Given the description of an element on the screen output the (x, y) to click on. 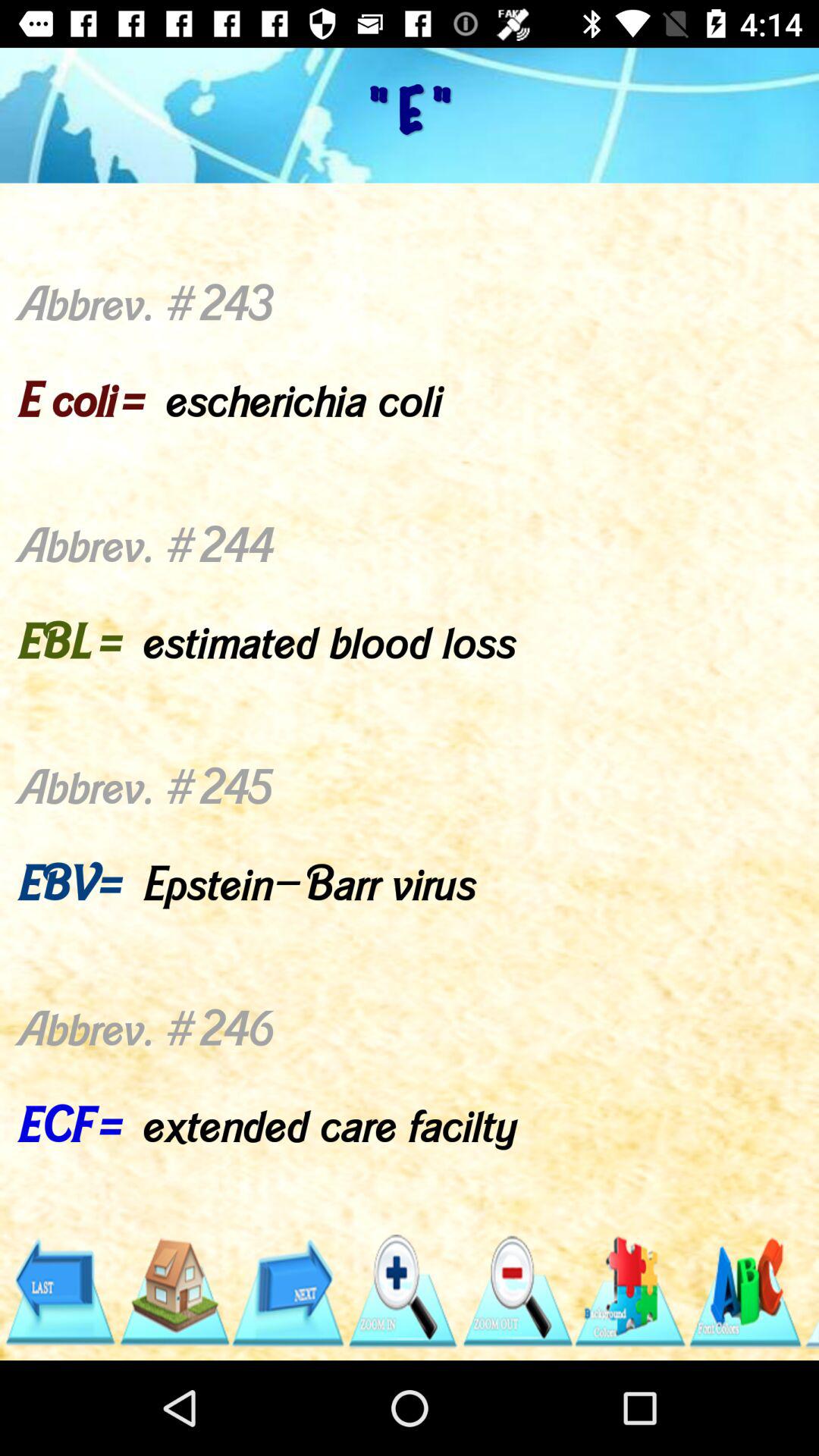
launch the app below the abbrev 	243	 	e icon (287, 1291)
